Given the description of an element on the screen output the (x, y) to click on. 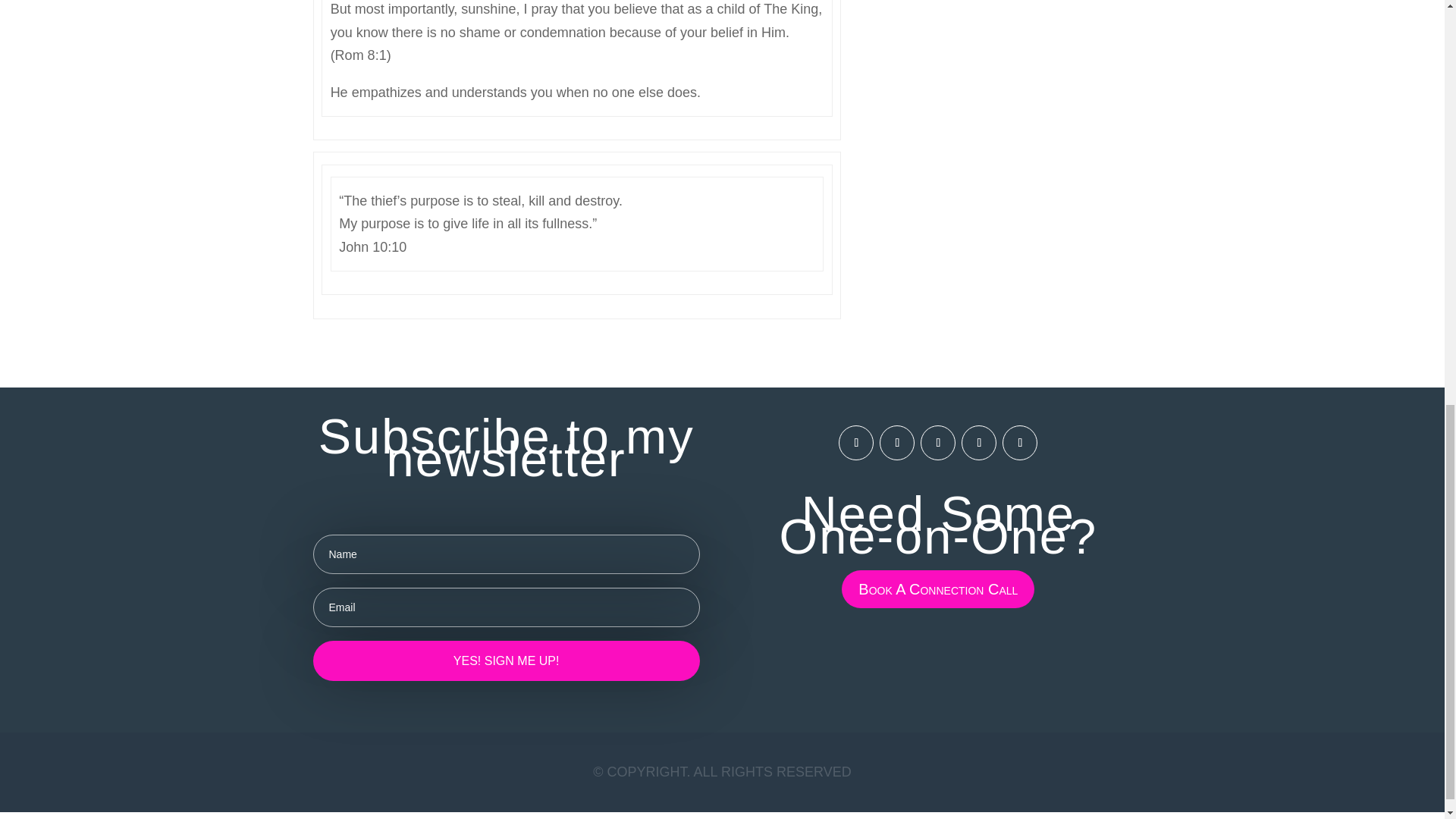
YES! SIGN ME UP! (505, 660)
Follow on Youtube (1019, 442)
Follow on Instagram (896, 442)
Follow on Facebook (855, 442)
Follow on LinkedIn (937, 442)
Follow on Twitter (977, 442)
